Given the description of an element on the screen output the (x, y) to click on. 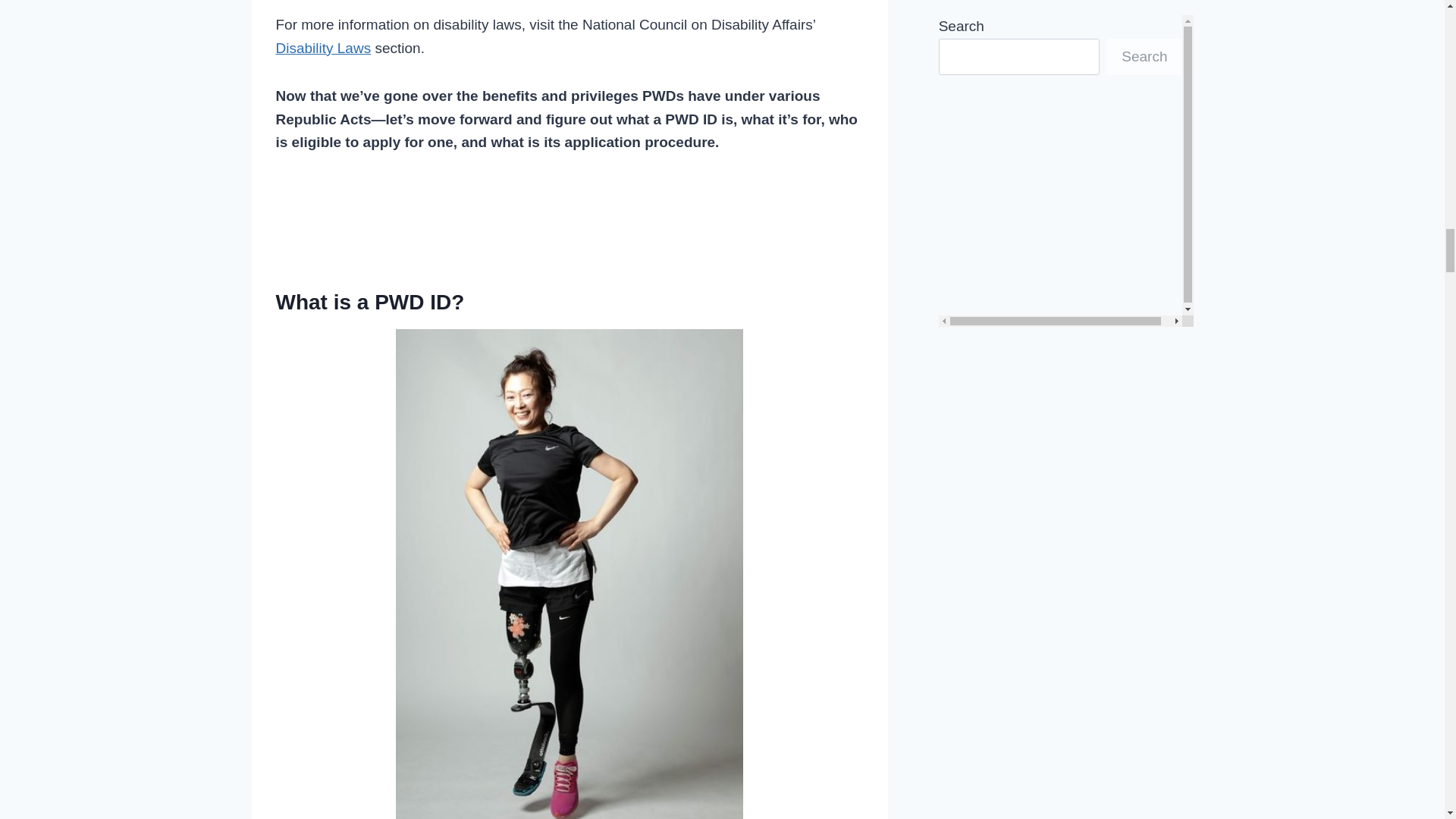
Disability Laws (323, 48)
